Given the description of an element on the screen output the (x, y) to click on. 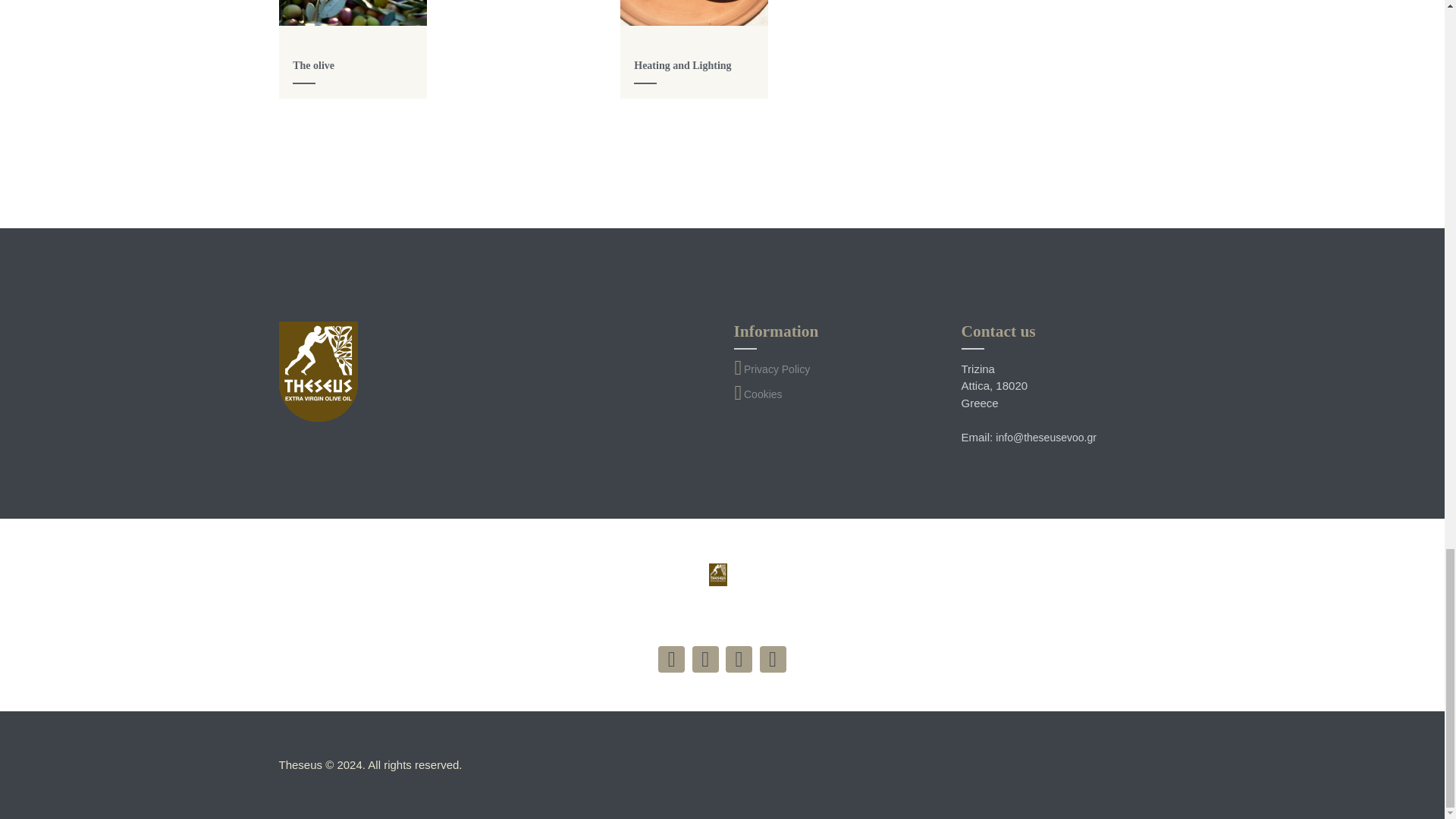
Heating and Lighting (681, 65)
Privacy Policy (776, 369)
Cookies (763, 394)
The olive (313, 65)
